Given the description of an element on the screen output the (x, y) to click on. 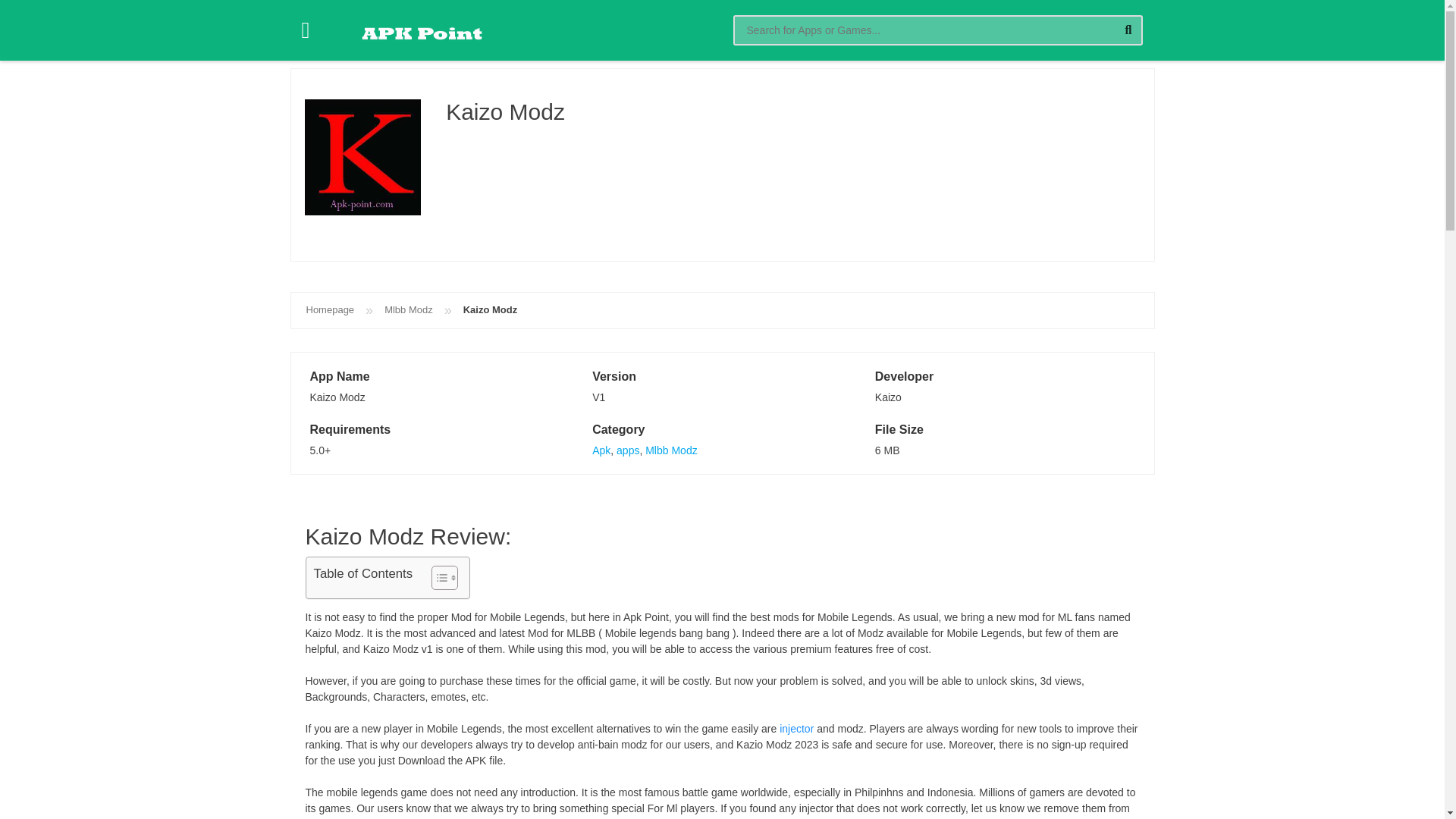
injector (795, 728)
Homepage (330, 309)
Kaizo Modz (490, 309)
Mlbb Modz (671, 450)
Homepage (330, 309)
Apk (601, 450)
Mlbb Modz (408, 309)
apps (627, 450)
